Given the description of an element on the screen output the (x, y) to click on. 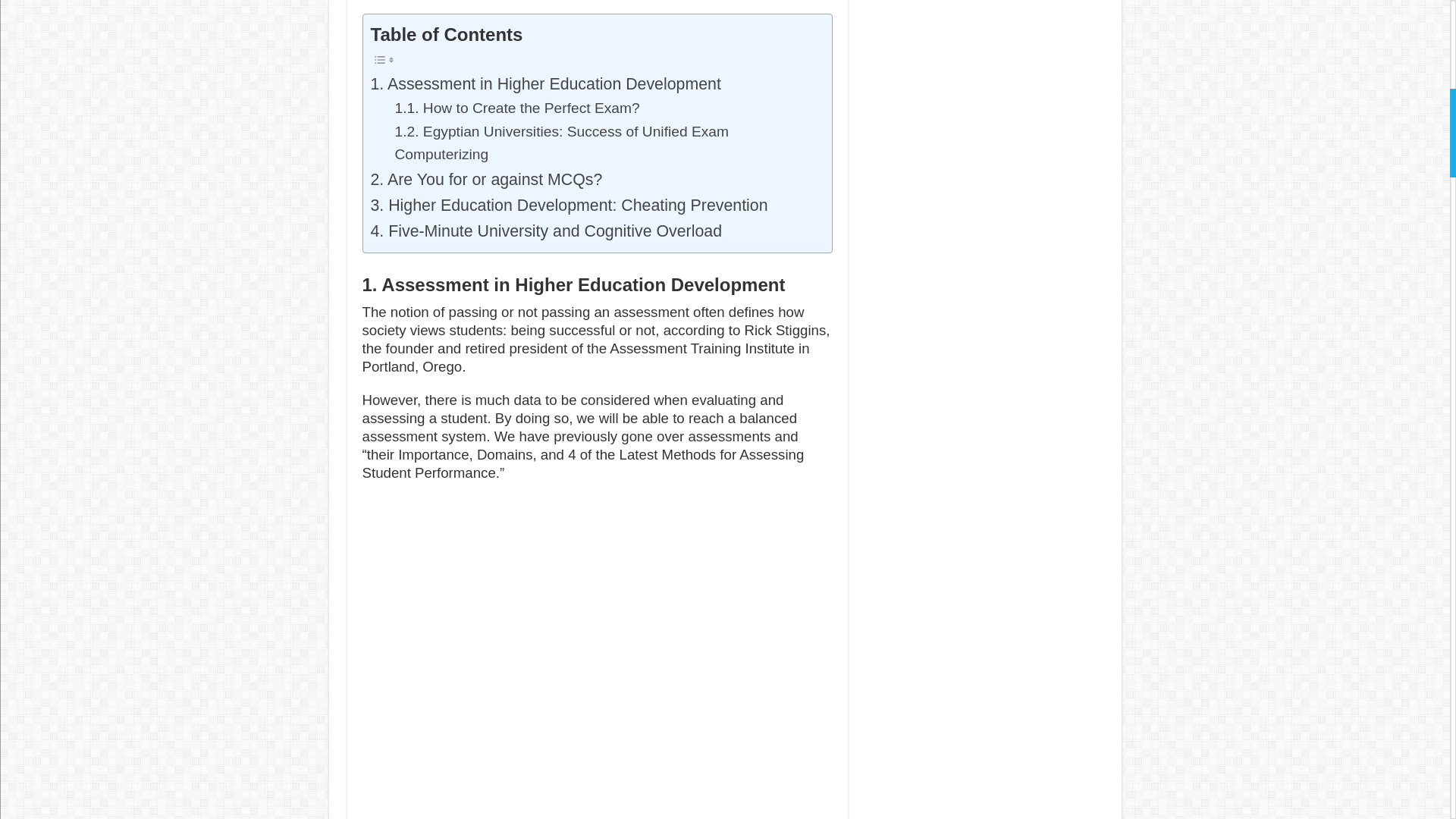
Scroll To Top (1427, 60)
4. Five-Minute University and Cognitive Overload  (547, 231)
1. Assessment in Higher Education Development (544, 84)
2. Are You for or against MCQs? (485, 179)
2.  Are You for or against MCQs? (485, 179)
3. Higher Education Development: Cheating Prevention (568, 205)
3. Higher Education Development: Cheating Prevention (568, 205)
1.1. How to Create the Perfect Exam? (516, 108)
1.1. How to Create the Perfect Exam? (516, 108)
1. Assessment in Higher Education Development (544, 84)
